Given the description of an element on the screen output the (x, y) to click on. 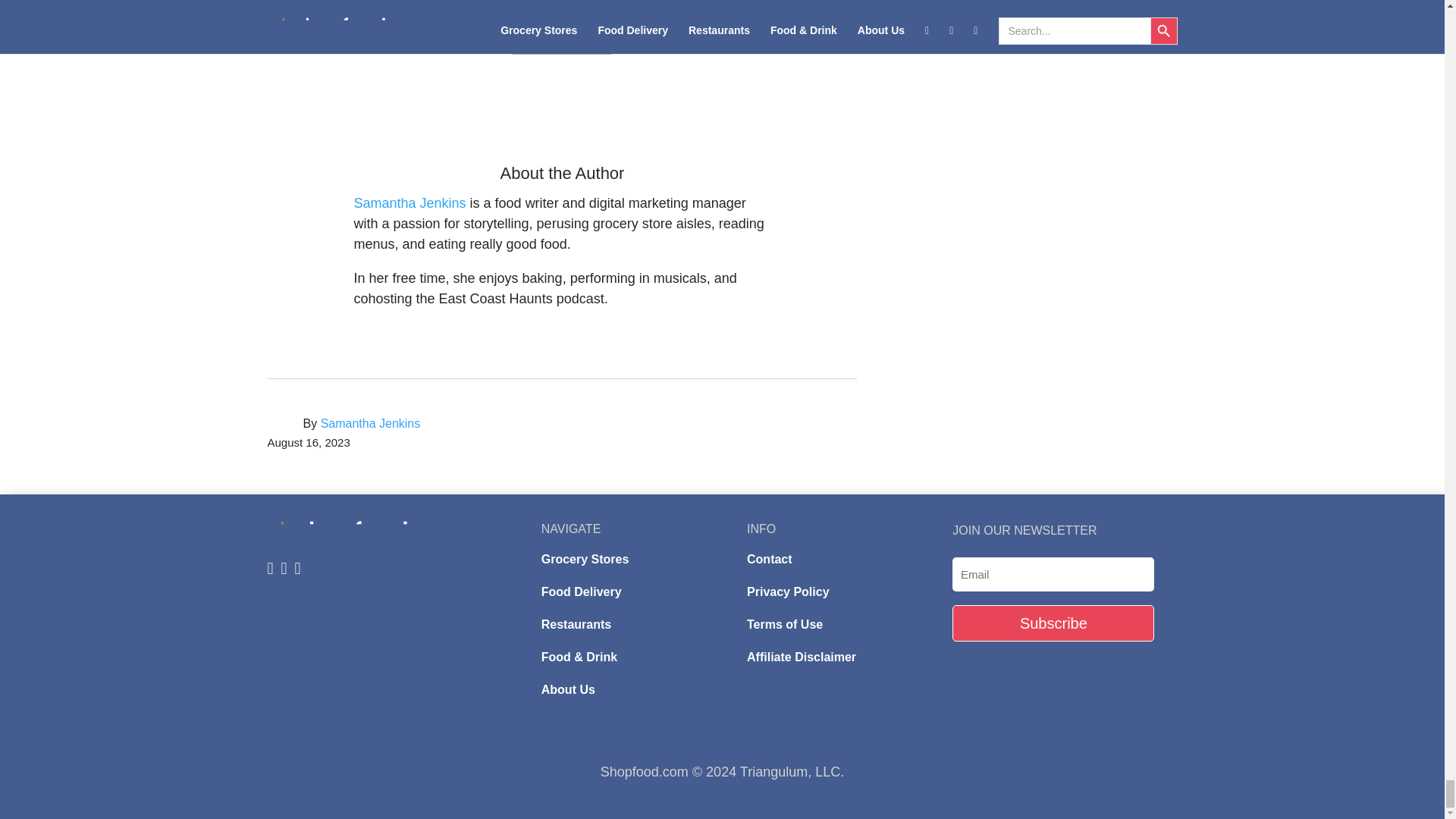
About Us (568, 689)
Restaurants (576, 624)
Terms of Use (784, 624)
Affiliate Disclaimer (801, 656)
Samantha Jenkins (370, 422)
Grocery Stores (584, 558)
shopfood-Logo-Final-PNG (367, 531)
Samantha Jenkins (409, 202)
Privacy Policy (787, 591)
Subscribe (1053, 623)
